Given the description of an element on the screen output the (x, y) to click on. 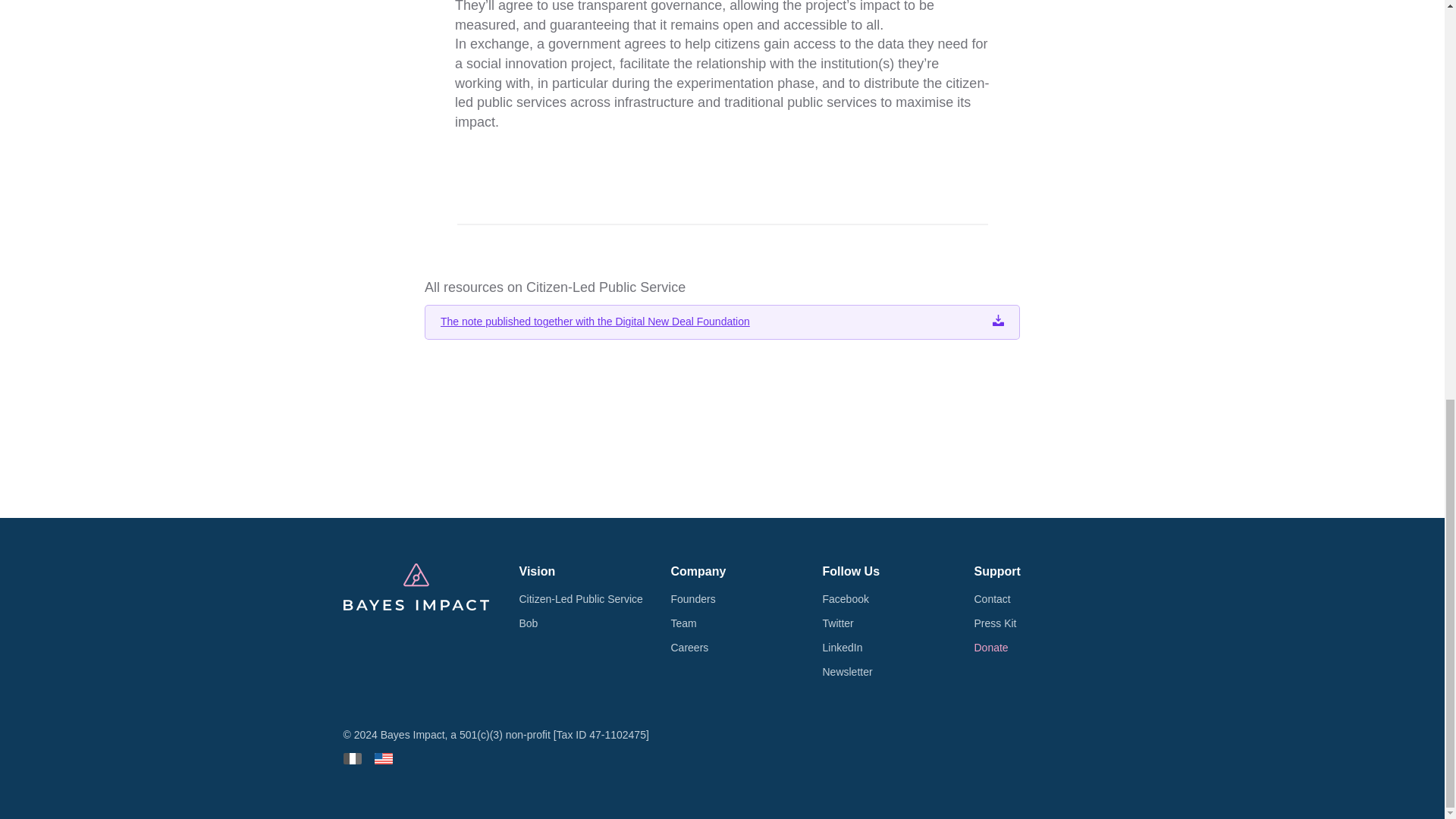
Bob (527, 623)
Citizen-Led Public Service (580, 598)
